Given the description of an element on the screen output the (x, y) to click on. 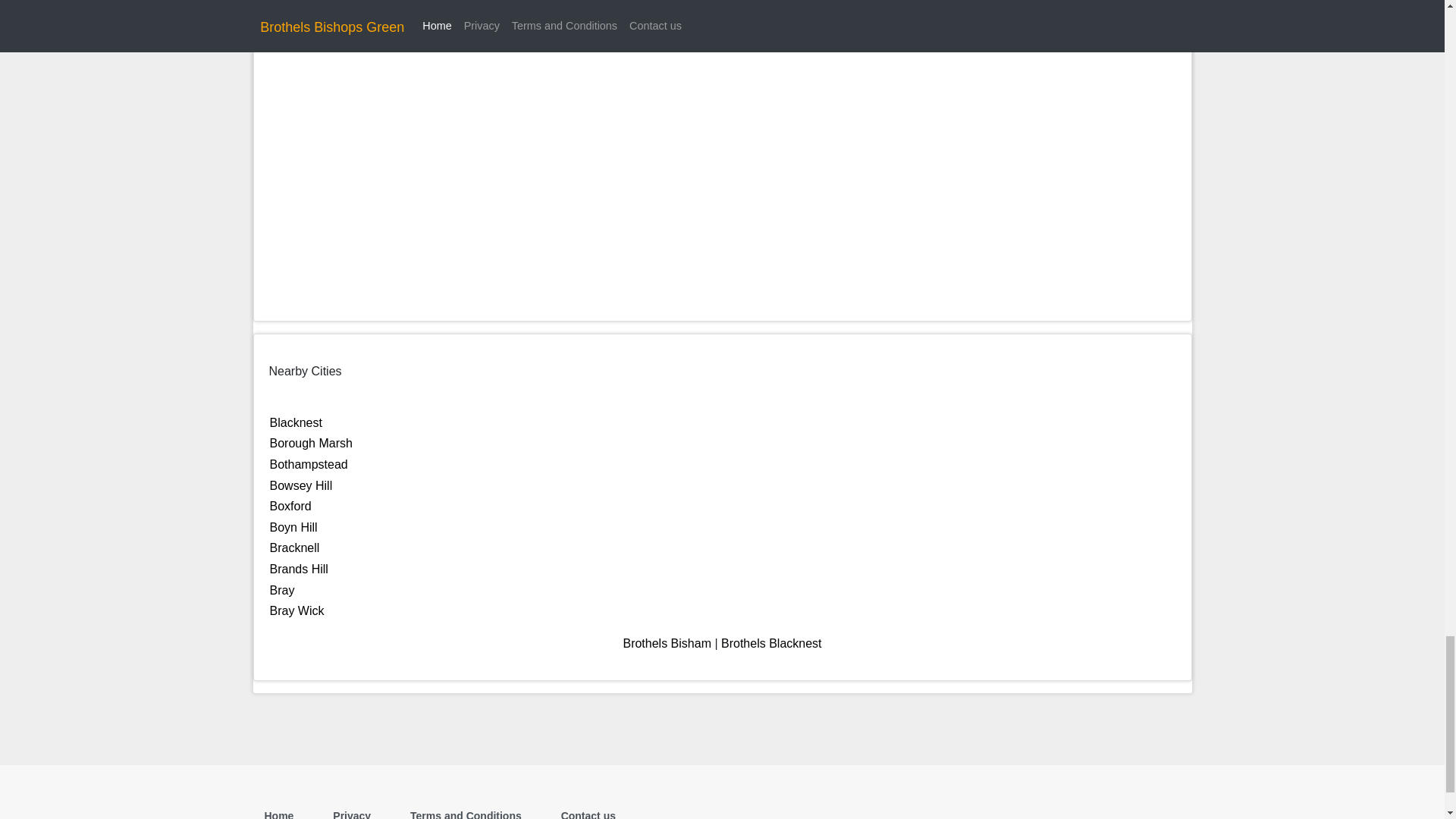
Brands Hill (299, 568)
Bray Wick (296, 610)
Bowsey Hill (301, 485)
Brothels Blacknest (771, 643)
Boyn Hill (293, 526)
Bothampstead (308, 463)
Borough Marsh (310, 442)
Boxford (290, 505)
Bray (282, 590)
Blacknest (295, 422)
